Given the description of an element on the screen output the (x, y) to click on. 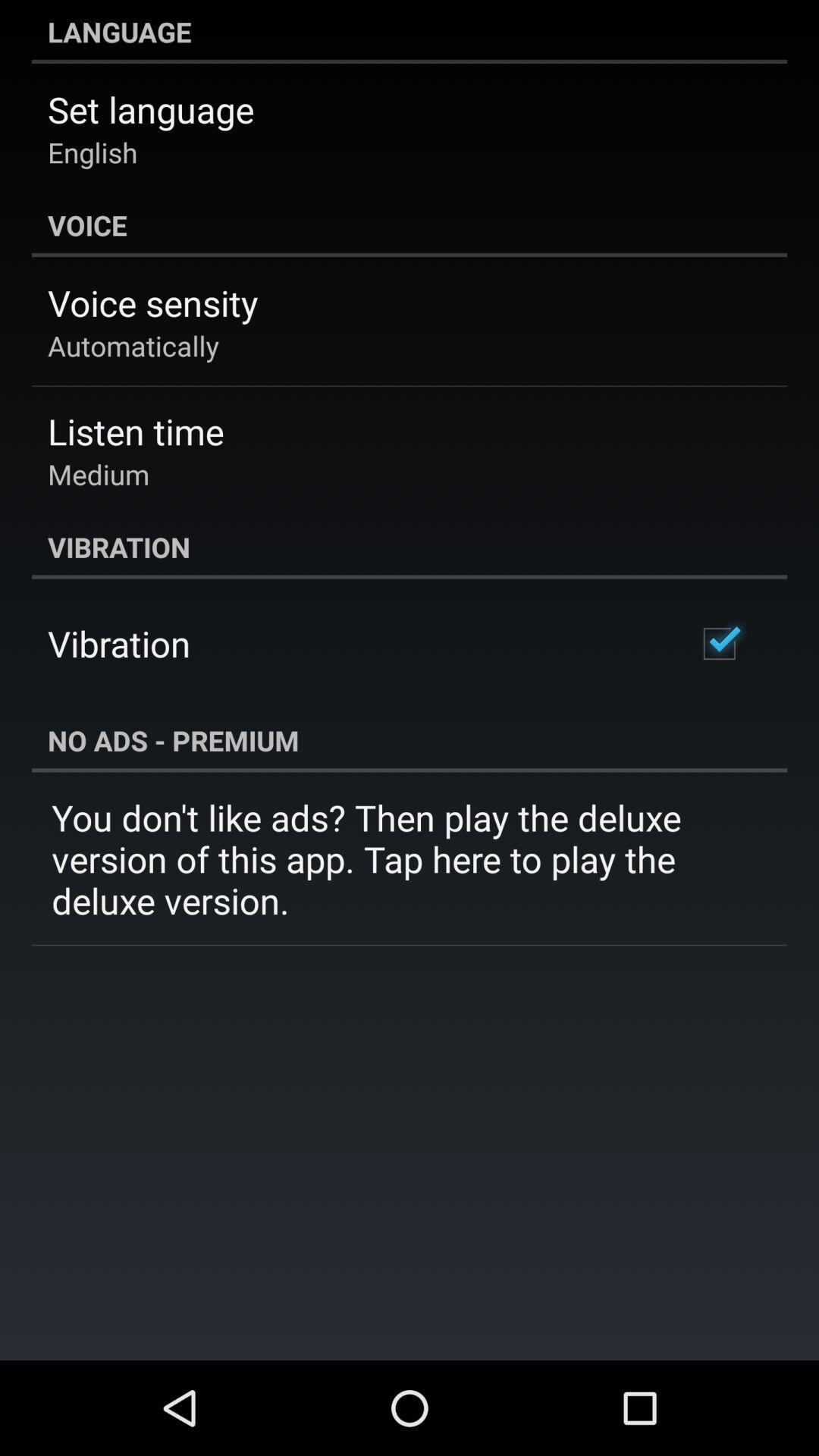
press app next to vibration icon (719, 643)
